Given the description of an element on the screen output the (x, y) to click on. 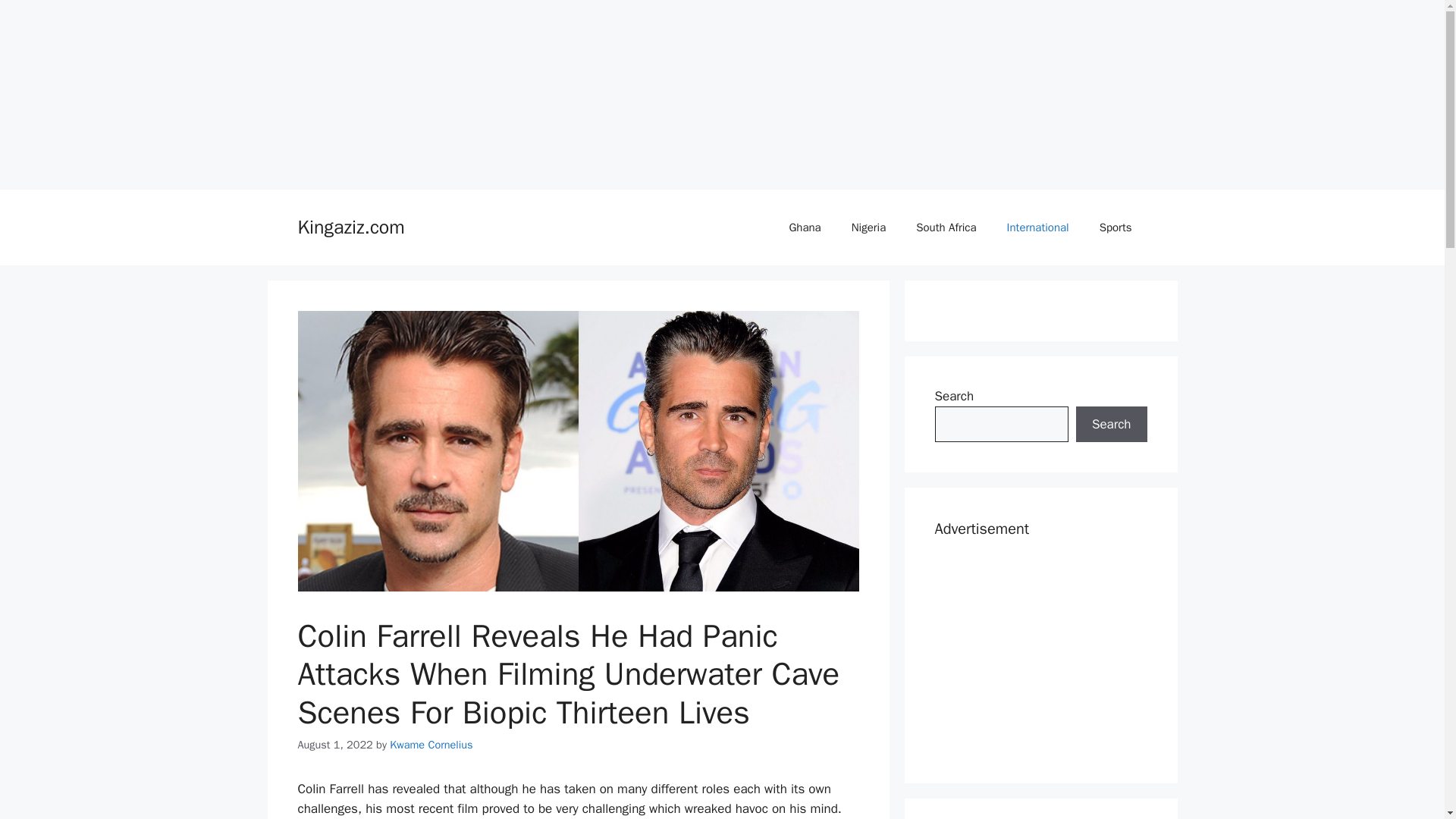
Kwame Cornelius (430, 744)
Ghana (804, 227)
Search (1111, 424)
South Africa (946, 227)
Nigeria (868, 227)
Sports (1115, 227)
View all posts by Kwame Cornelius (430, 744)
International (1037, 227)
Kingaziz.com (350, 227)
